Given the description of an element on the screen output the (x, y) to click on. 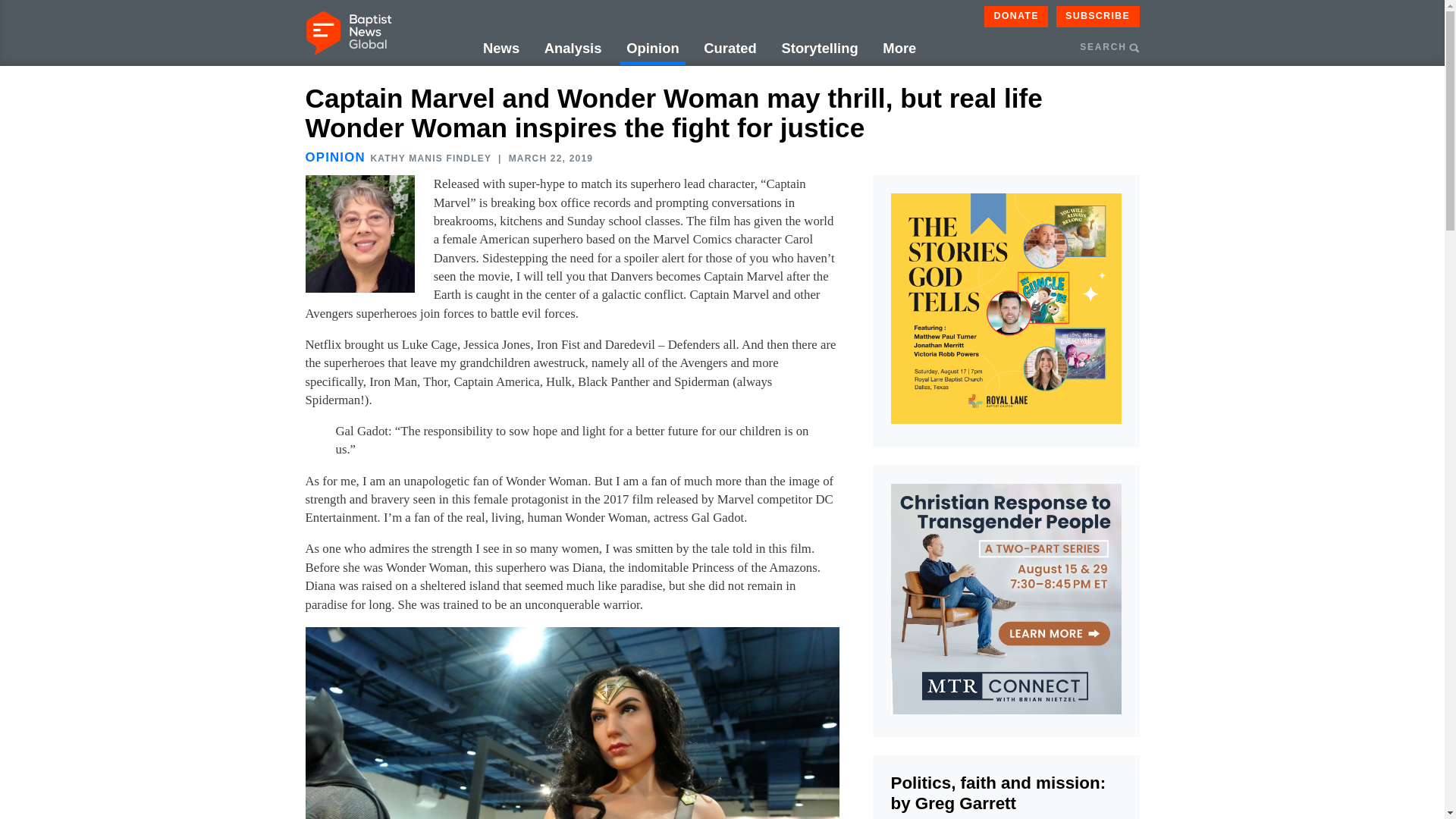
More (898, 49)
OPINION (334, 156)
Curated (729, 49)
SUBSCRIBE (1098, 16)
Posts by Kathy Manis Findley (429, 158)
Opinion (652, 49)
Search (1193, 119)
Storytelling (819, 49)
DONATE (1016, 16)
News (501, 49)
